Given the description of an element on the screen output the (x, y) to click on. 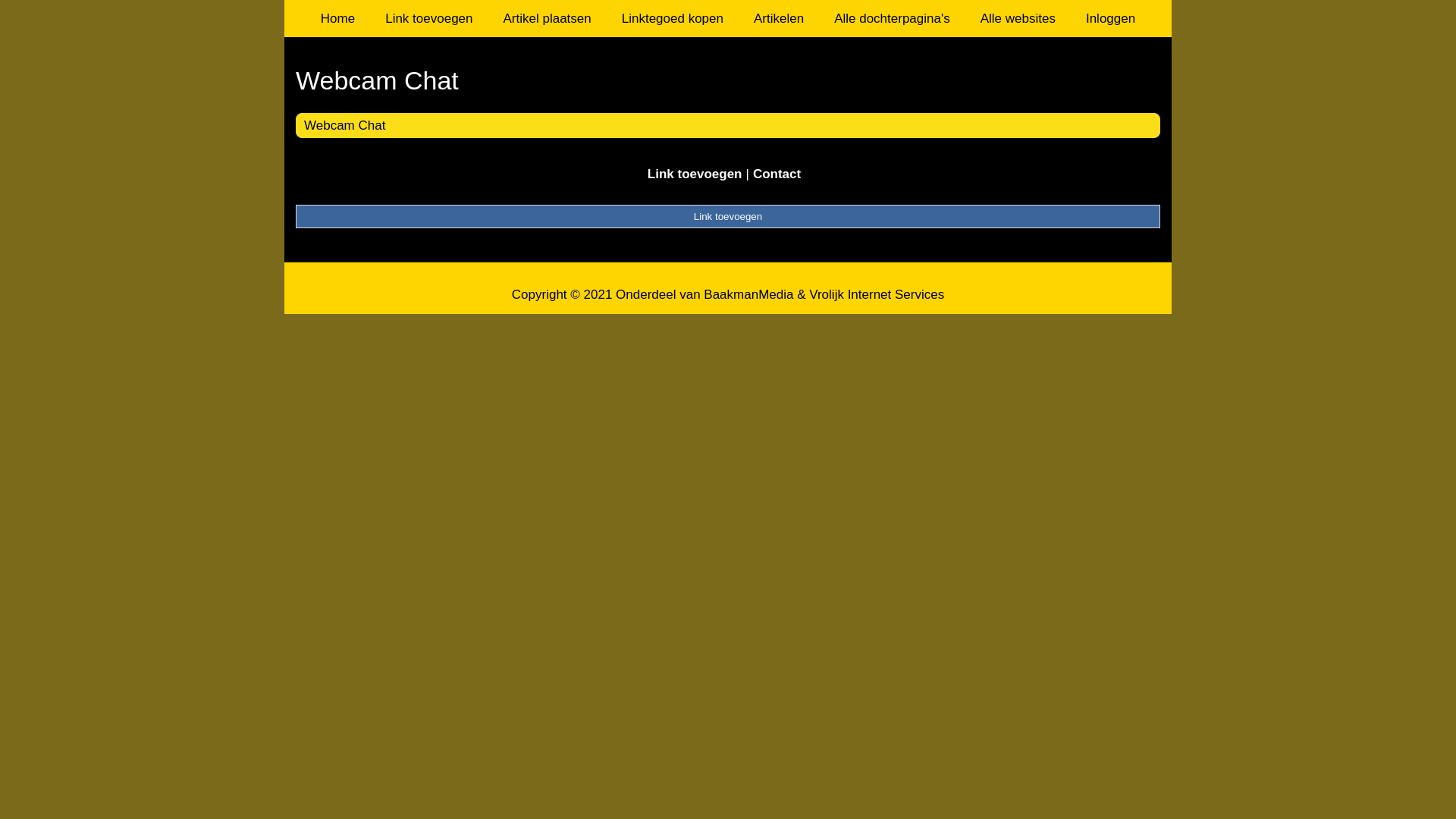
Webcam Chat Element type: text (727, 80)
Alle dochterpagina's Element type: text (892, 18)
Inloggen Element type: text (1110, 18)
BaakmanMedia Element type: text (748, 294)
Alle websites Element type: text (1017, 18)
Link toevoegen Element type: text (727, 215)
Linktegoed kopen Element type: text (672, 18)
Artikel plaatsen Element type: text (547, 18)
Contact Element type: text (776, 173)
Artikelen Element type: text (778, 18)
Home Element type: text (337, 18)
Vrolijk Internet Services Element type: text (876, 294)
Webcam Chat Element type: text (344, 125)
Link toevoegen Element type: text (428, 18)
Link toevoegen Element type: text (694, 173)
